Given the description of an element on the screen output the (x, y) to click on. 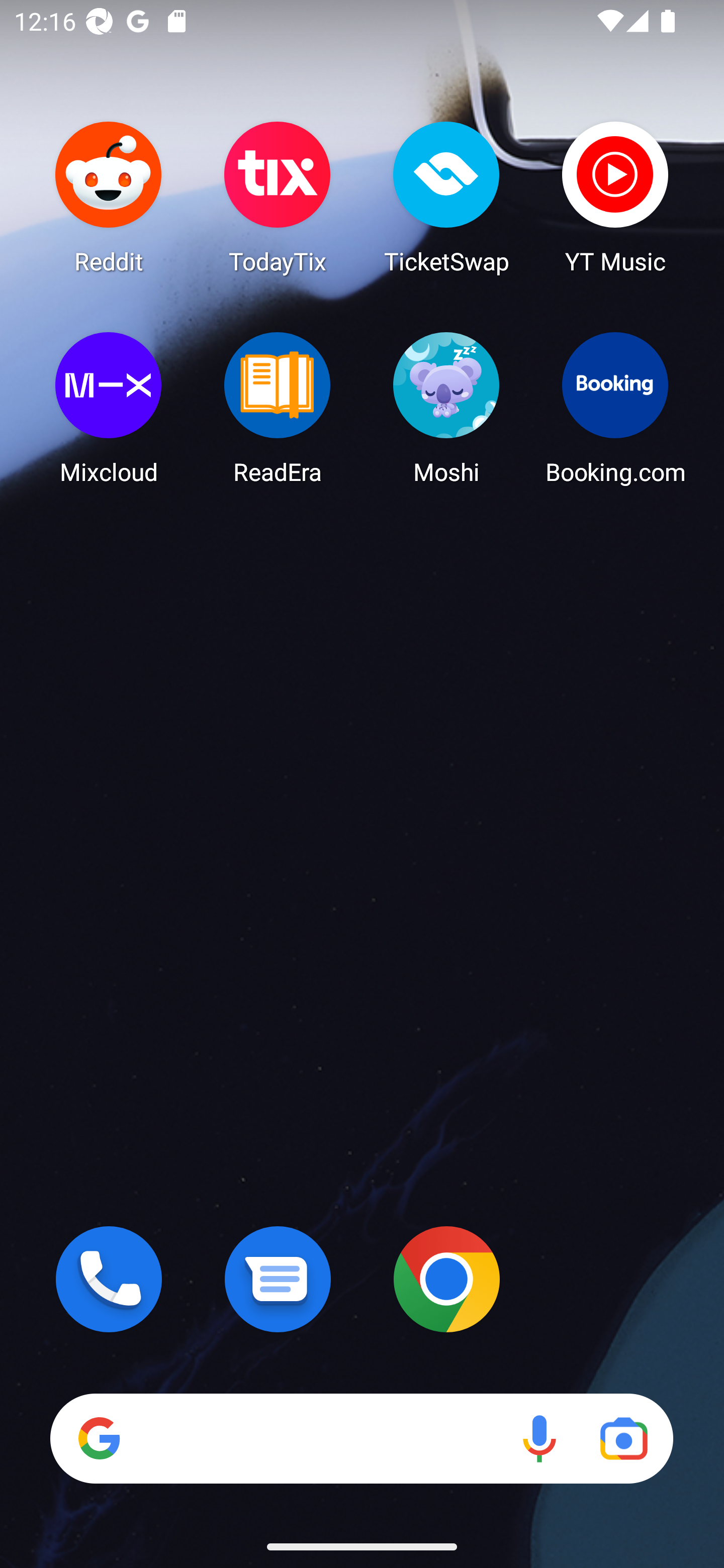
Reddit (108, 196)
TodayTix (277, 196)
TicketSwap (445, 196)
YT Music (615, 196)
Mixcloud (108, 407)
ReadEra (277, 407)
Moshi (445, 407)
Booking.com (615, 407)
Phone (108, 1279)
Messages (277, 1279)
Chrome (446, 1279)
Search Voice search Google Lens (361, 1438)
Voice search (539, 1438)
Google Lens (623, 1438)
